Given the description of an element on the screen output the (x, y) to click on. 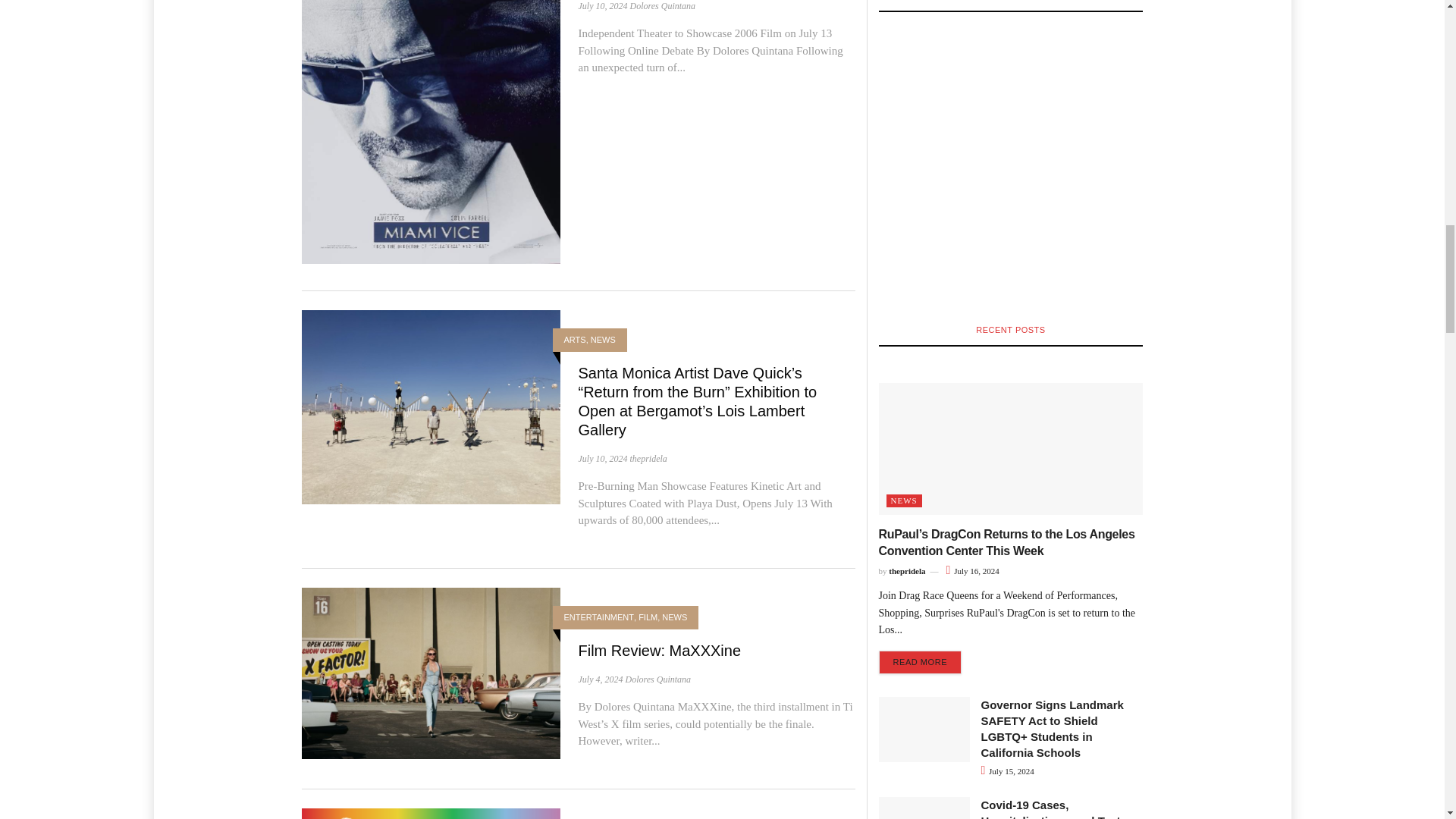
Posts by Dolores Quintana (657, 679)
Posts by thepridela (647, 458)
Film Review: MaXXXine (430, 671)
Film Review: MaXXXine (659, 650)
Posts by Dolores Quintana (661, 5)
